Given the description of an element on the screen output the (x, y) to click on. 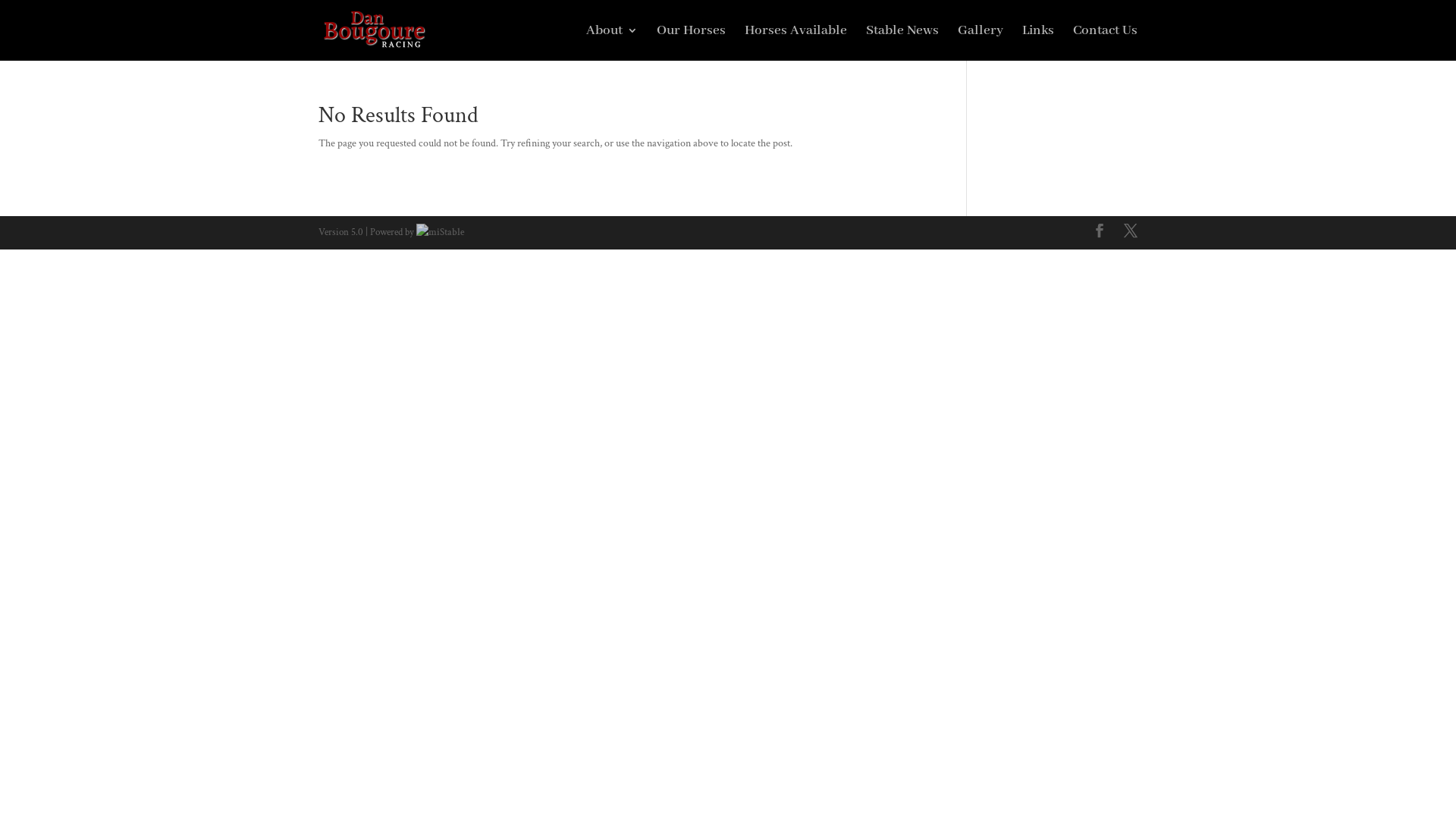
Our Horses Element type: text (690, 42)
Stable News Element type: text (902, 42)
Links Element type: text (1038, 42)
Contact Us Element type: text (1105, 42)
Horses Available Element type: text (795, 42)
Gallery Element type: text (980, 42)
About Element type: text (611, 42)
Horse Management Software Element type: hover (440, 231)
